Given the description of an element on the screen output the (x, y) to click on. 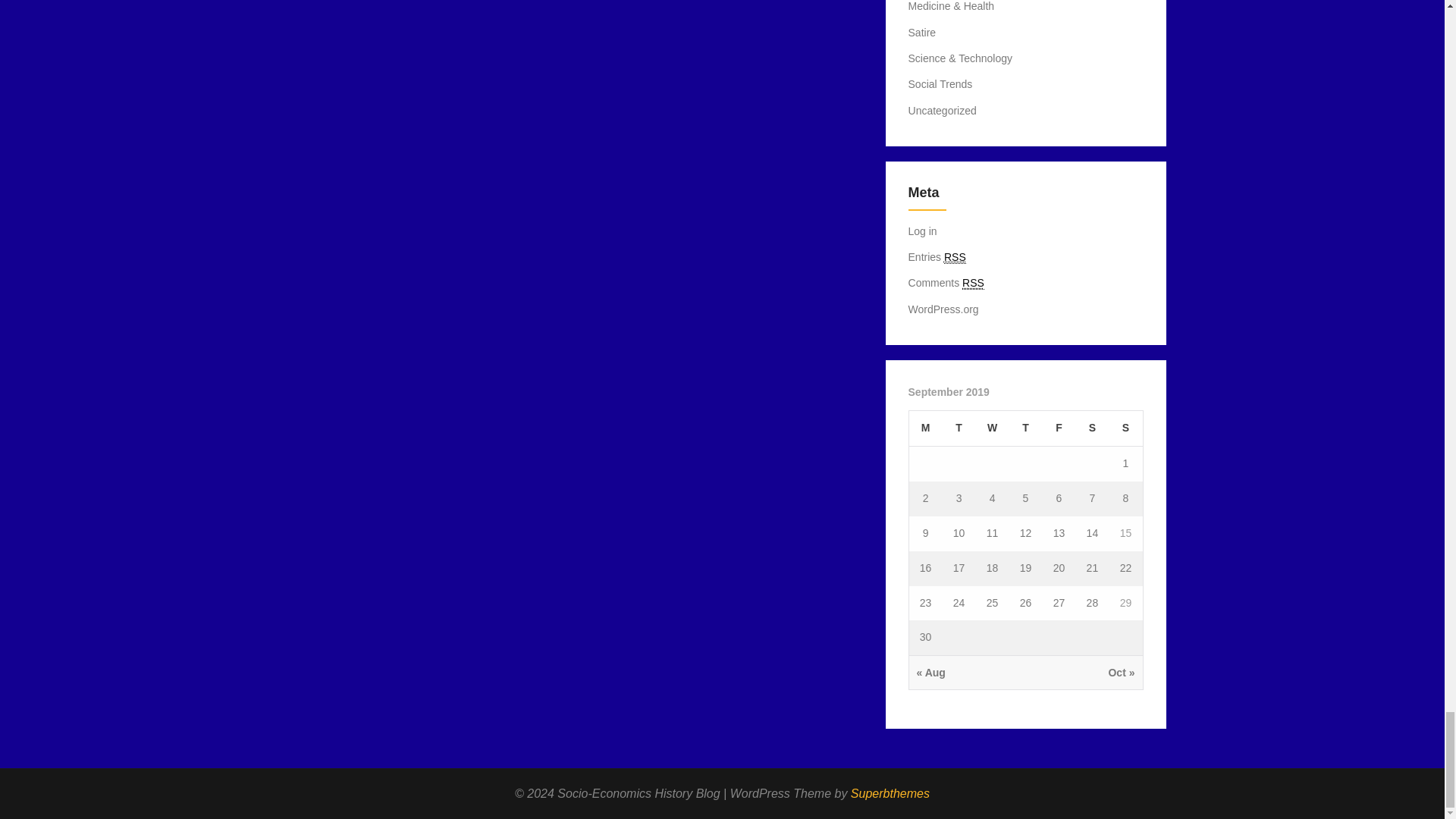
Monday (925, 428)
Wednesday (992, 428)
Really Simple Syndication (973, 282)
Saturday (1091, 428)
Sunday (1125, 428)
Thursday (1025, 428)
Tuesday (958, 428)
Friday (1058, 428)
Really Simple Syndication (954, 256)
